Given the description of an element on the screen output the (x, y) to click on. 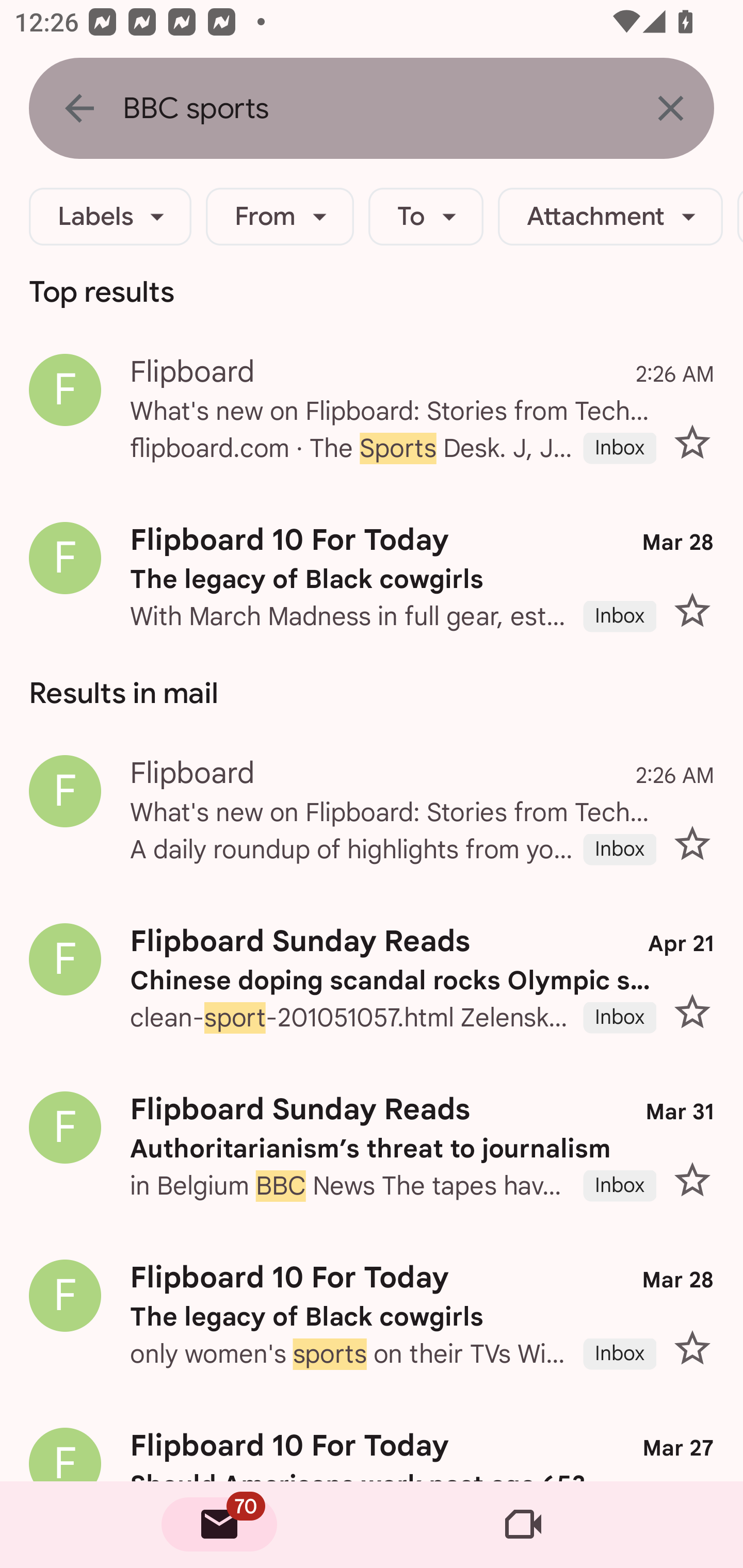
Navigate up (79, 108)
Clear search text (670, 108)
Labels (109, 217)
From (279, 217)
To (425, 217)
Attachment (609, 217)
Meet (523, 1524)
